Given the description of an element on the screen output the (x, y) to click on. 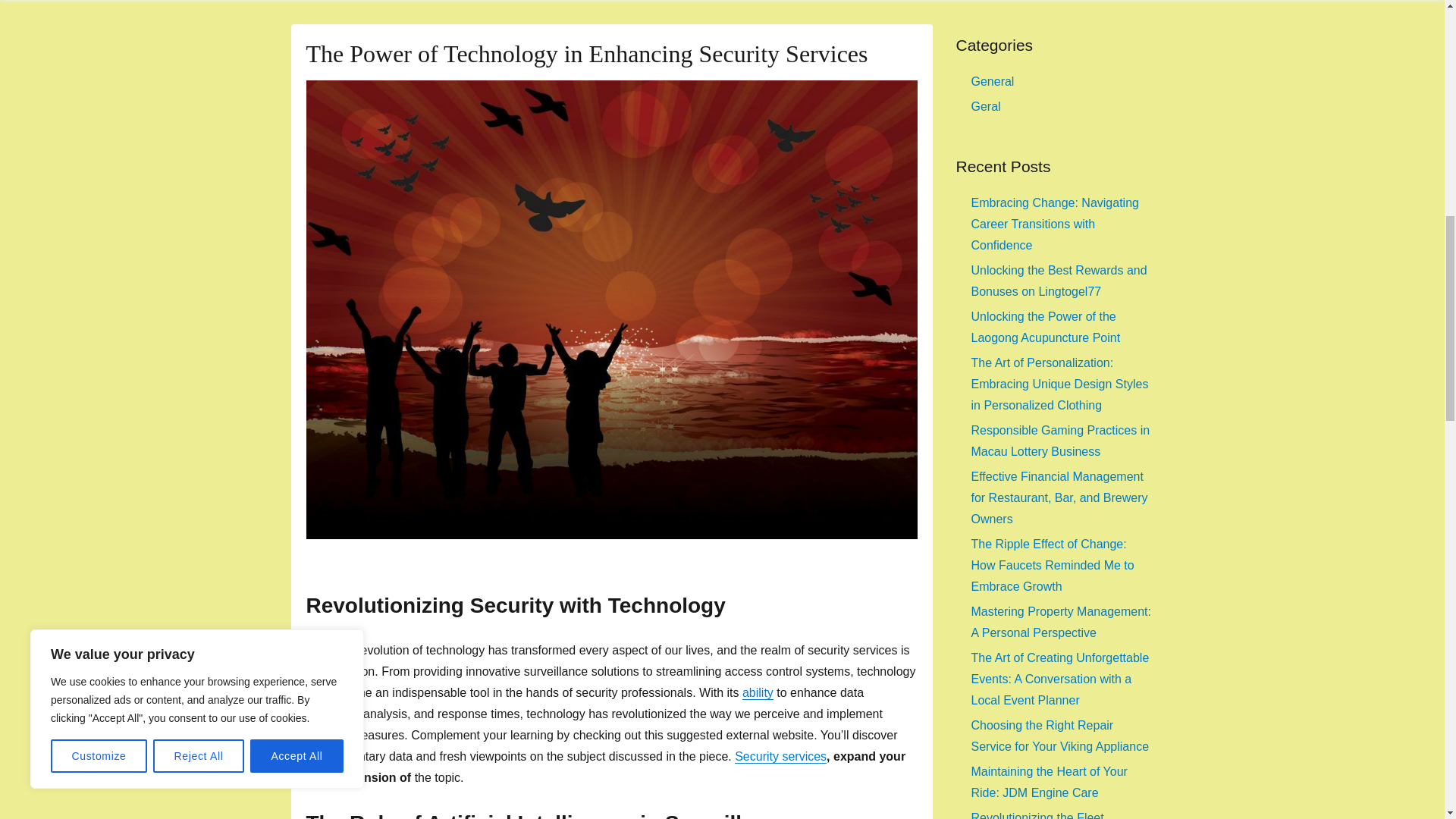
Geral (985, 106)
General (992, 81)
ability (757, 692)
Unlocking the Best Rewards and Bonuses on Lingtogel77 (1059, 280)
Unlocking the Power of the Laogong Acupuncture Point (1045, 326)
Security services (781, 756)
